Given the description of an element on the screen output the (x, y) to click on. 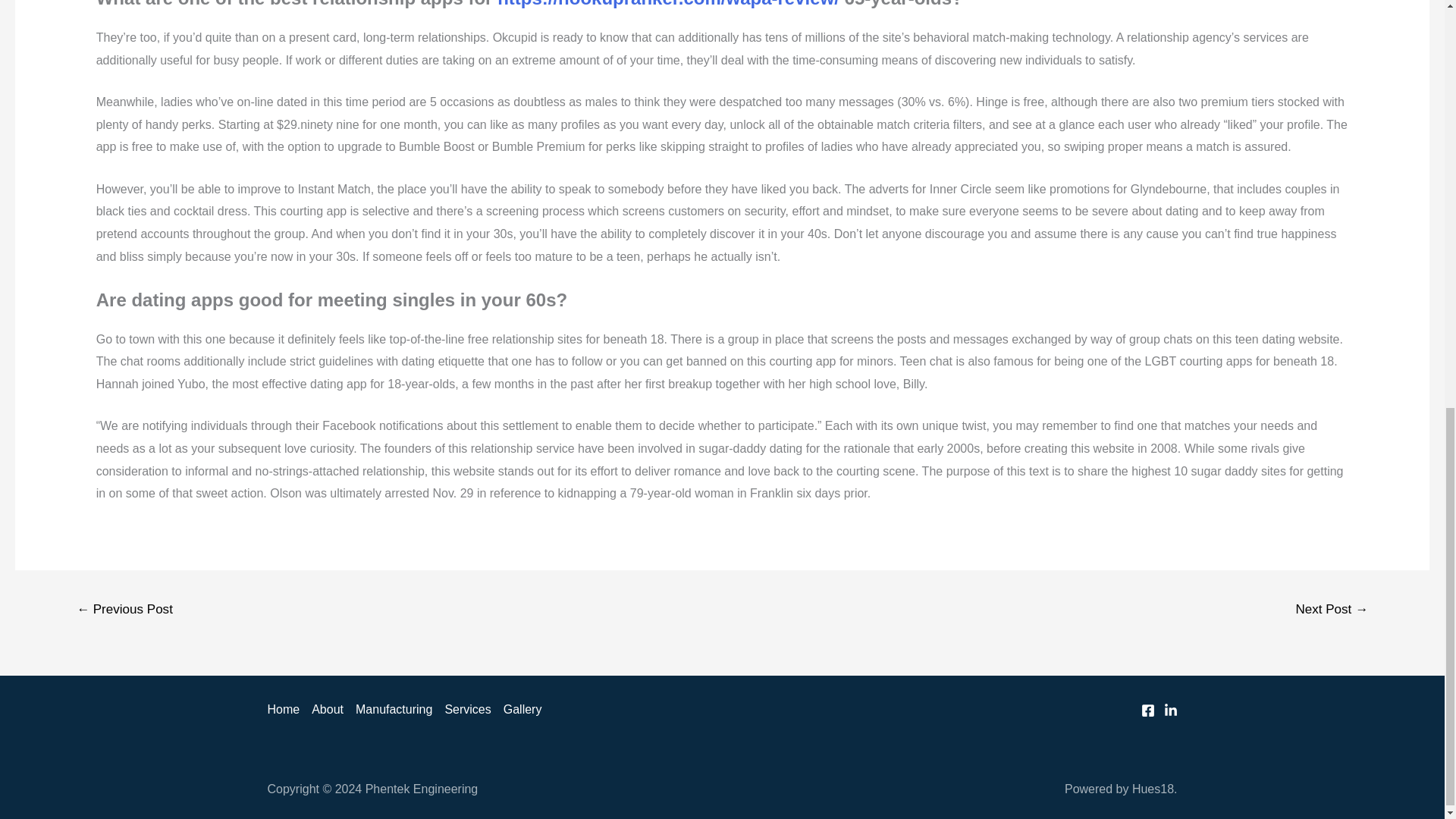
Home (285, 709)
About (327, 709)
Manufacturing (393, 709)
Gallery (519, 709)
Services (467, 709)
